Given the description of an element on the screen output the (x, y) to click on. 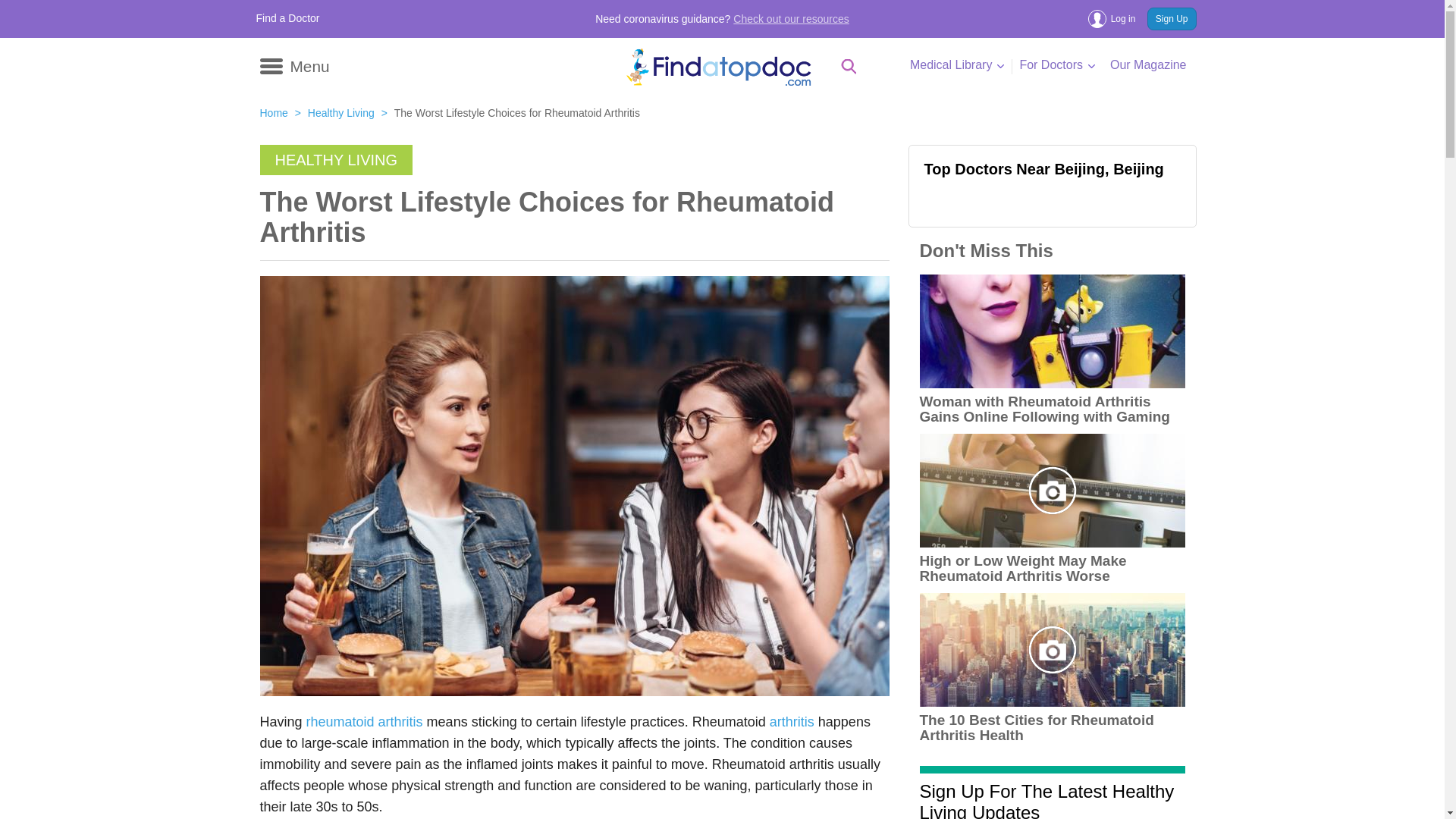
Find a Doctor (287, 18)
Menu (294, 63)
Check out our resources (790, 19)
Sign Up (1171, 18)
Log in (1115, 18)
Sign Up (1171, 18)
Log in (1115, 18)
